Given the description of an element on the screen output the (x, y) to click on. 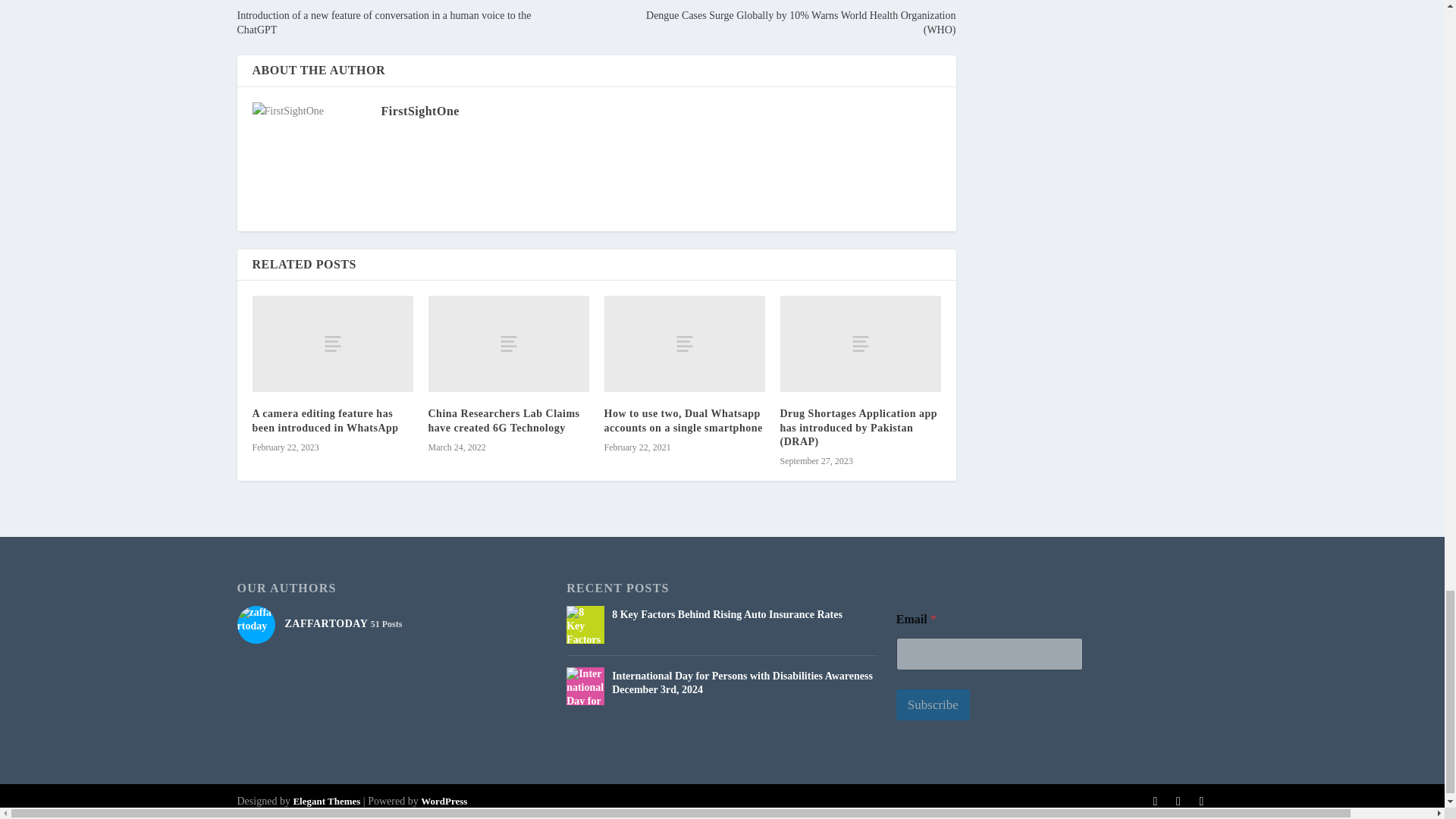
View all posts by FirstSightOne (419, 110)
A camera editing feature has been introduced in WhatsApp (331, 343)
China Researchers Lab Claims have created 6G Technology (508, 343)
